Given the description of an element on the screen output the (x, y) to click on. 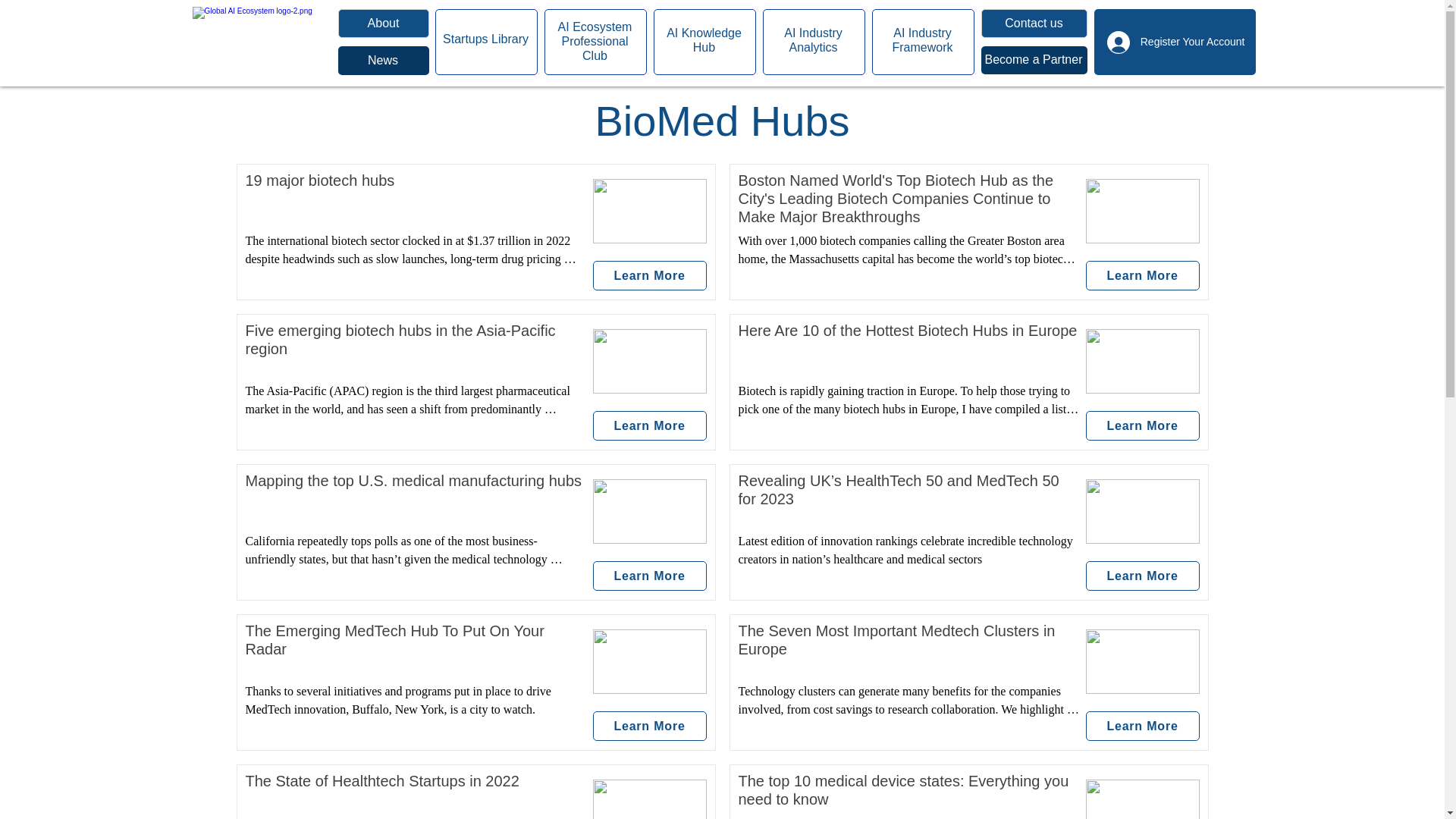
biomedThe Emerging MedTech Hub To Put On Your Radar.png (649, 661)
Register Your Account (703, 40)
Learn More (1175, 41)
AI Industry Framework (649, 275)
Startups Library (921, 40)
biomedThe State of Healthtech Startups in 2022.png (485, 38)
Contact us (649, 799)
